Given the description of an element on the screen output the (x, y) to click on. 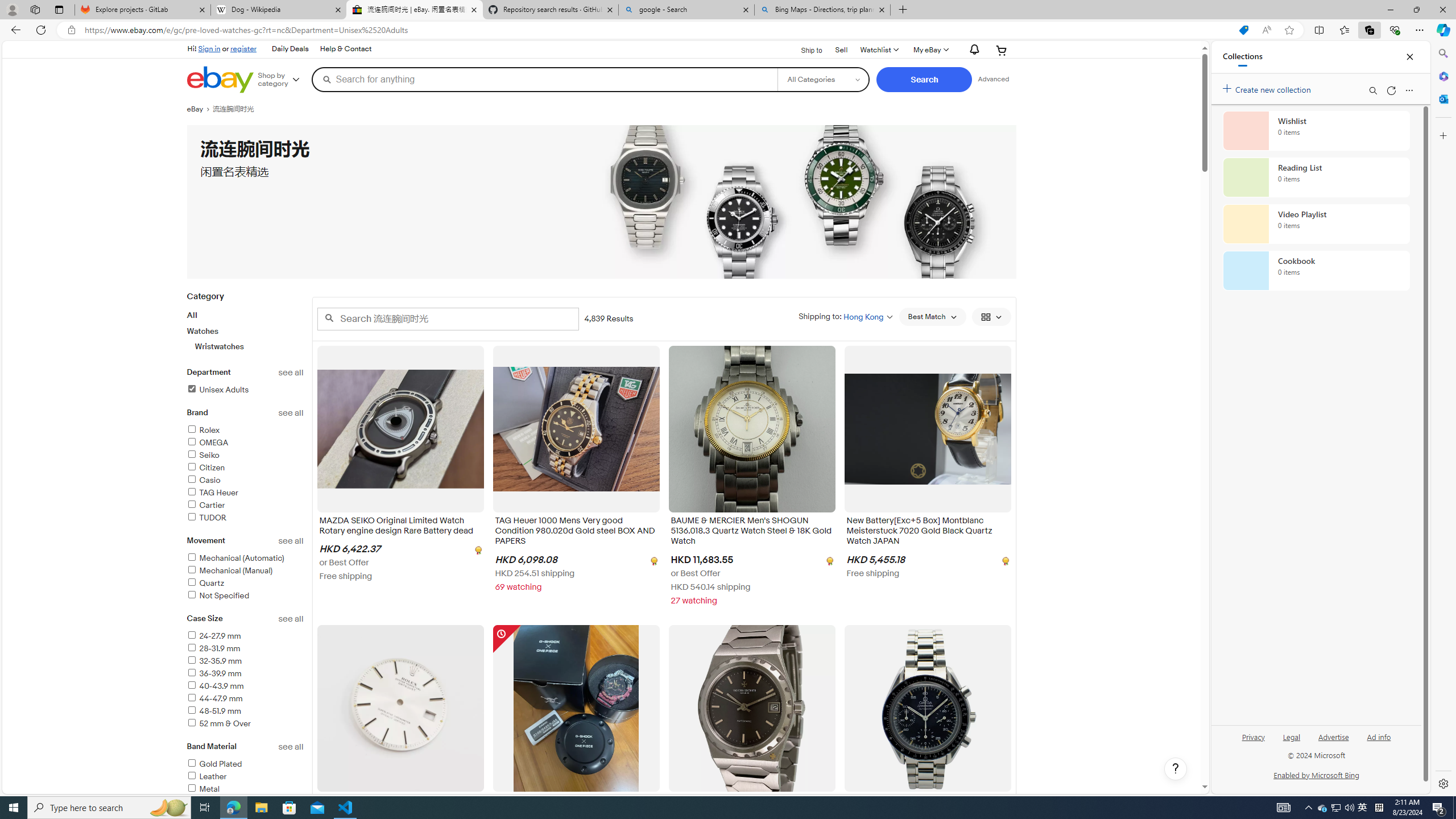
Daily Deals (289, 49)
[object Undefined] (1004, 560)
Sort: Best Match (932, 316)
Reading List collection, 0 items (1316, 177)
Select a category for search (823, 78)
24-27.9 mm (245, 636)
Daily Deals (290, 49)
